Given the description of an element on the screen output the (x, y) to click on. 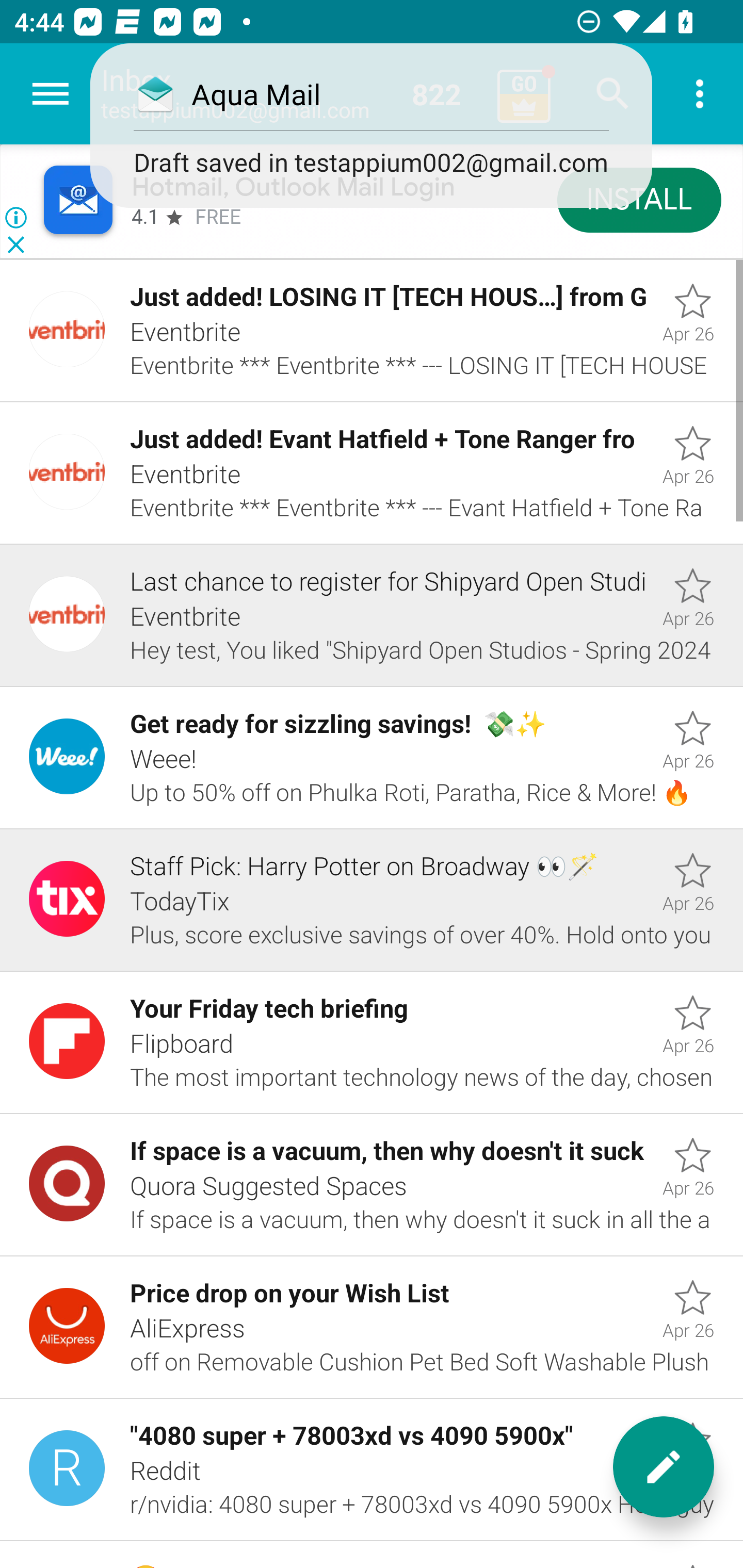
Navigate up (50, 93)
More options (699, 93)
New message (663, 1466)
